Given the description of an element on the screen output the (x, y) to click on. 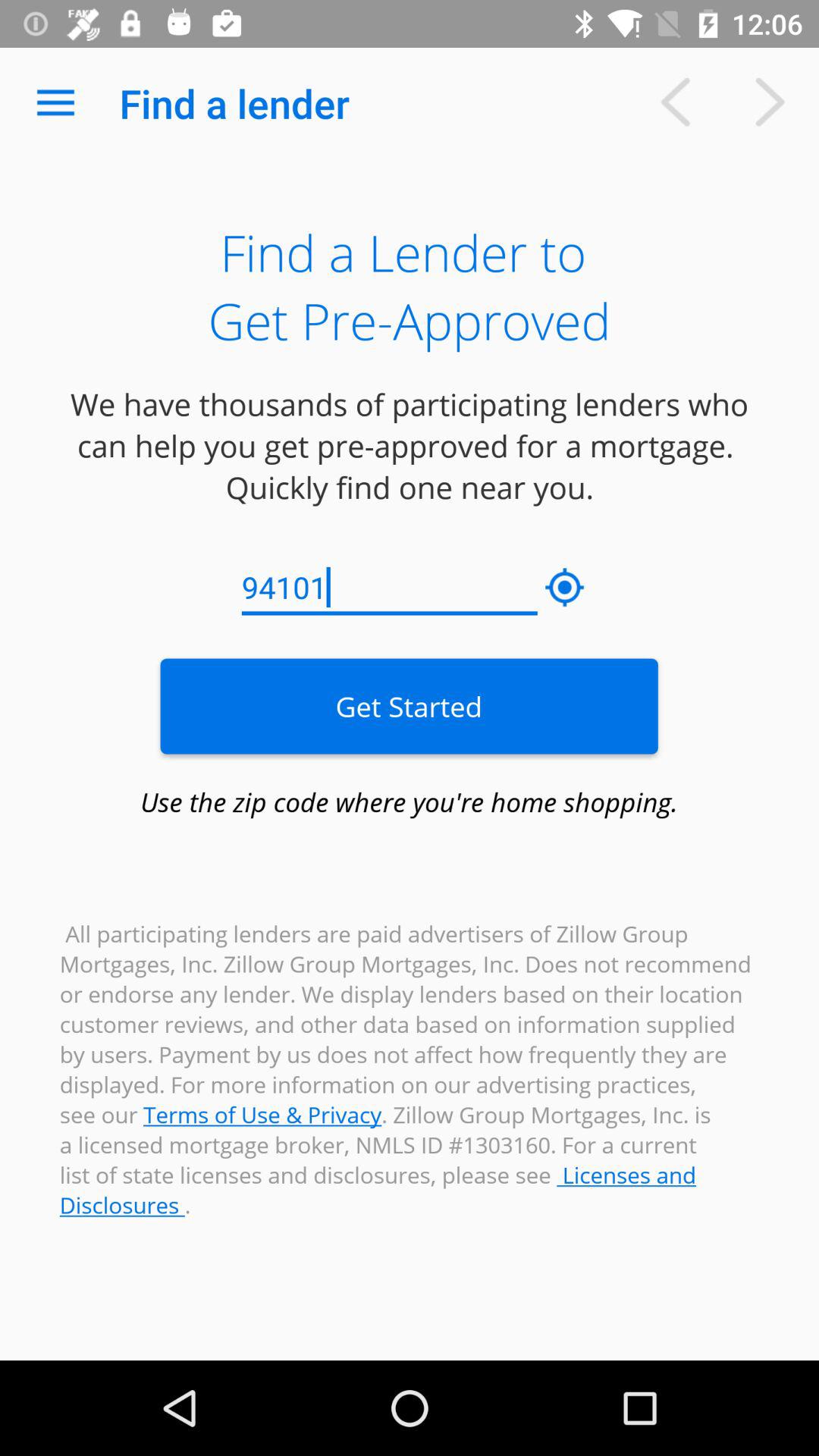
turn on the icon to the right of 94101 icon (565, 587)
